Given the description of an element on the screen output the (x, y) to click on. 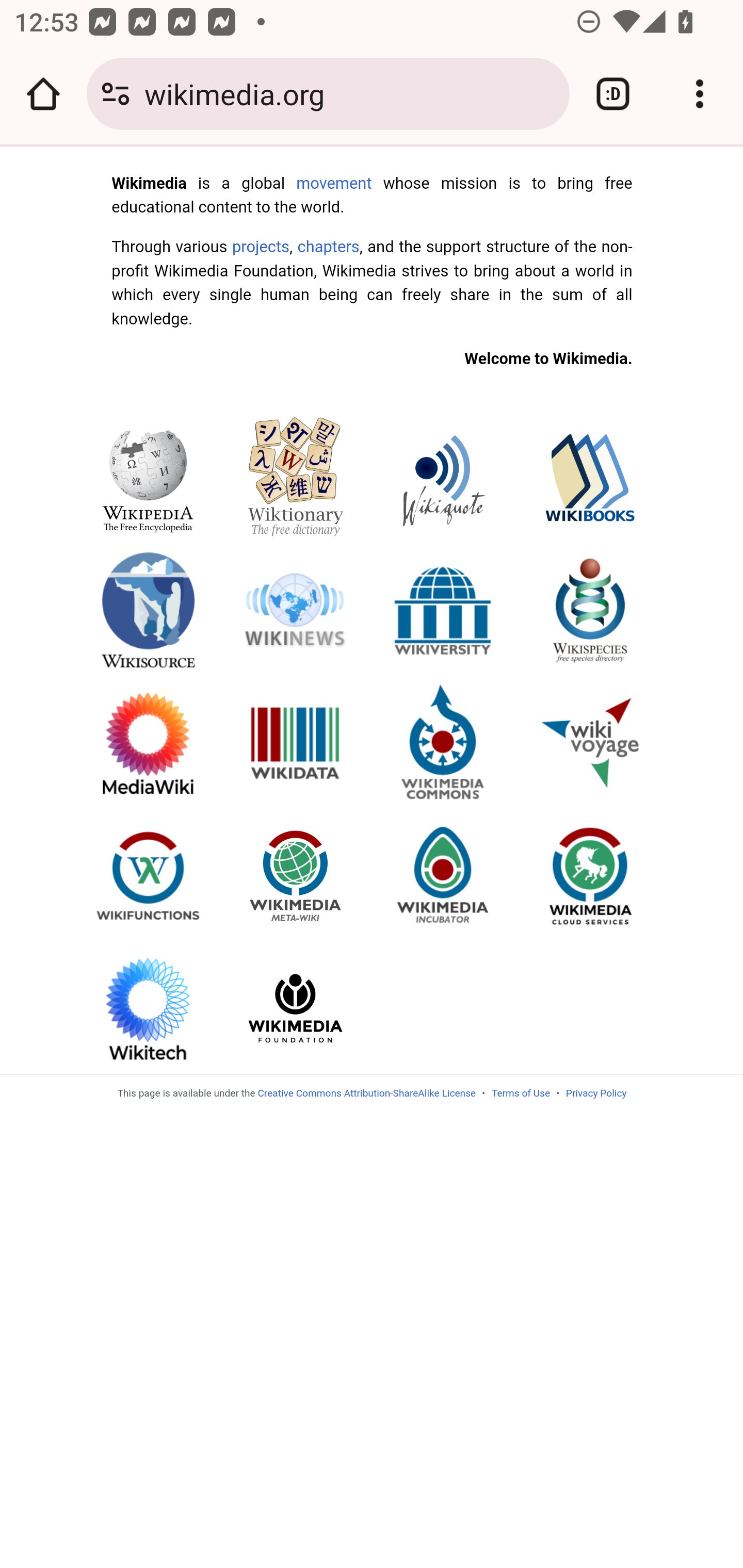
Open the home page (43, 93)
Connection is secure (115, 93)
Switch or close tabs (612, 93)
Customize and control Google Chrome (699, 93)
wikimedia.org (349, 92)
movement (333, 182)
projects (260, 245)
chapters (327, 245)
Wikipedia (147, 476)
Wiktionary (295, 476)
Wikiquote (442, 476)
Wikibooks (589, 476)
Wikisource (147, 608)
Wikinews (295, 608)
Wikiversity (442, 608)
Wikispecies (589, 608)
MediaWiki (147, 742)
Wikidata (295, 742)
Wikimedia Commons (442, 742)
Wikivoyage (589, 742)
Wikifunctions (147, 874)
Meta-Wiki (295, 874)
Wikimedia Incubator (442, 874)
Wikimedia Cloud Services logo (589, 874)
Wikitech logo (147, 1007)
Wikimedia Foundation (295, 1007)
Creative Commons Attribution-ShareAlike License (366, 1092)
Terms of Use (520, 1092)
Privacy Policy (596, 1092)
